Given the description of an element on the screen output the (x, y) to click on. 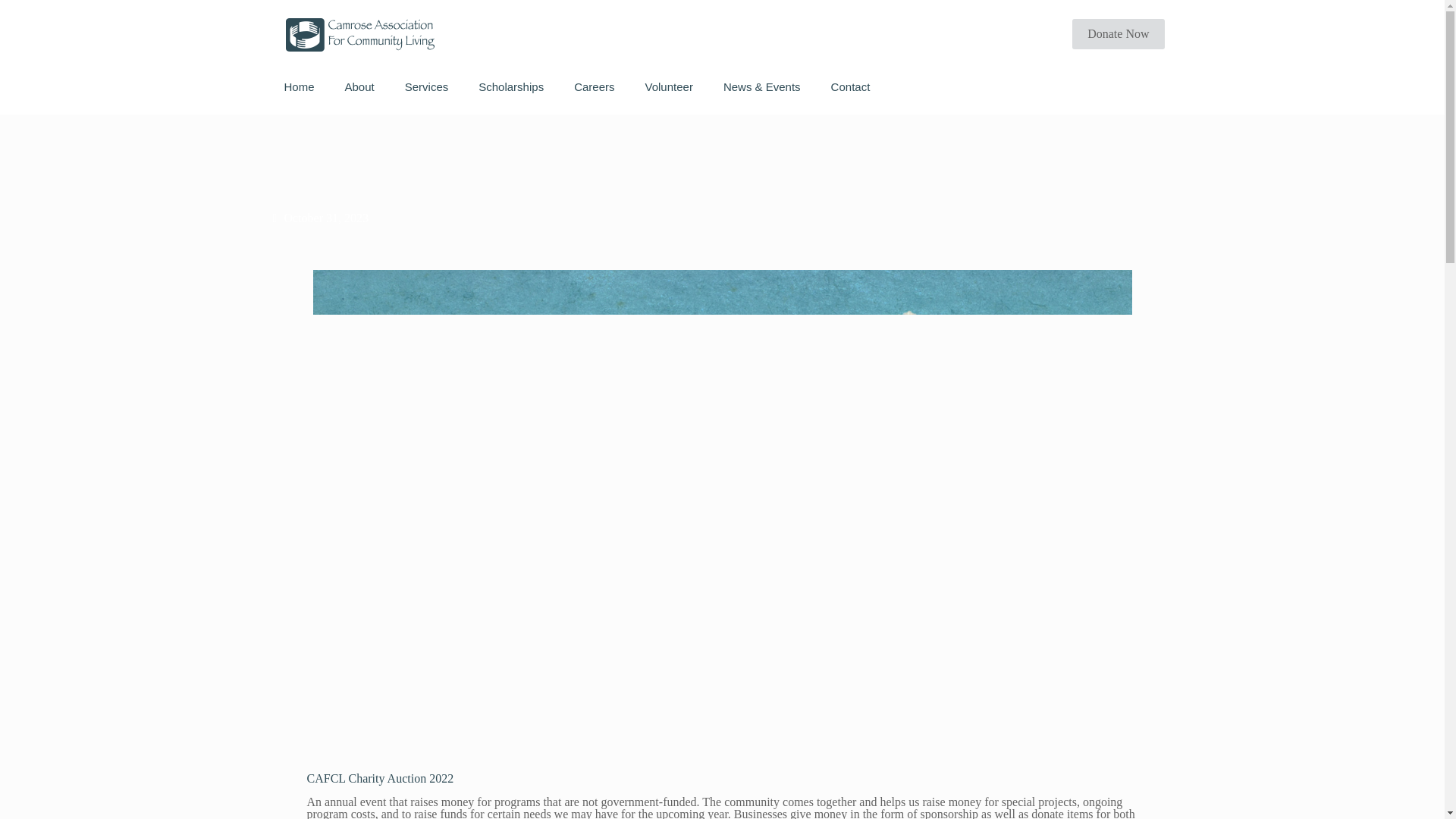
Donate Now (1117, 33)
Scholarships (511, 86)
About (360, 86)
Home (298, 86)
Services (427, 86)
Camrose Association For Community Living (359, 33)
Volunteer (667, 86)
Contact (850, 86)
Careers (593, 86)
